Given the description of an element on the screen output the (x, y) to click on. 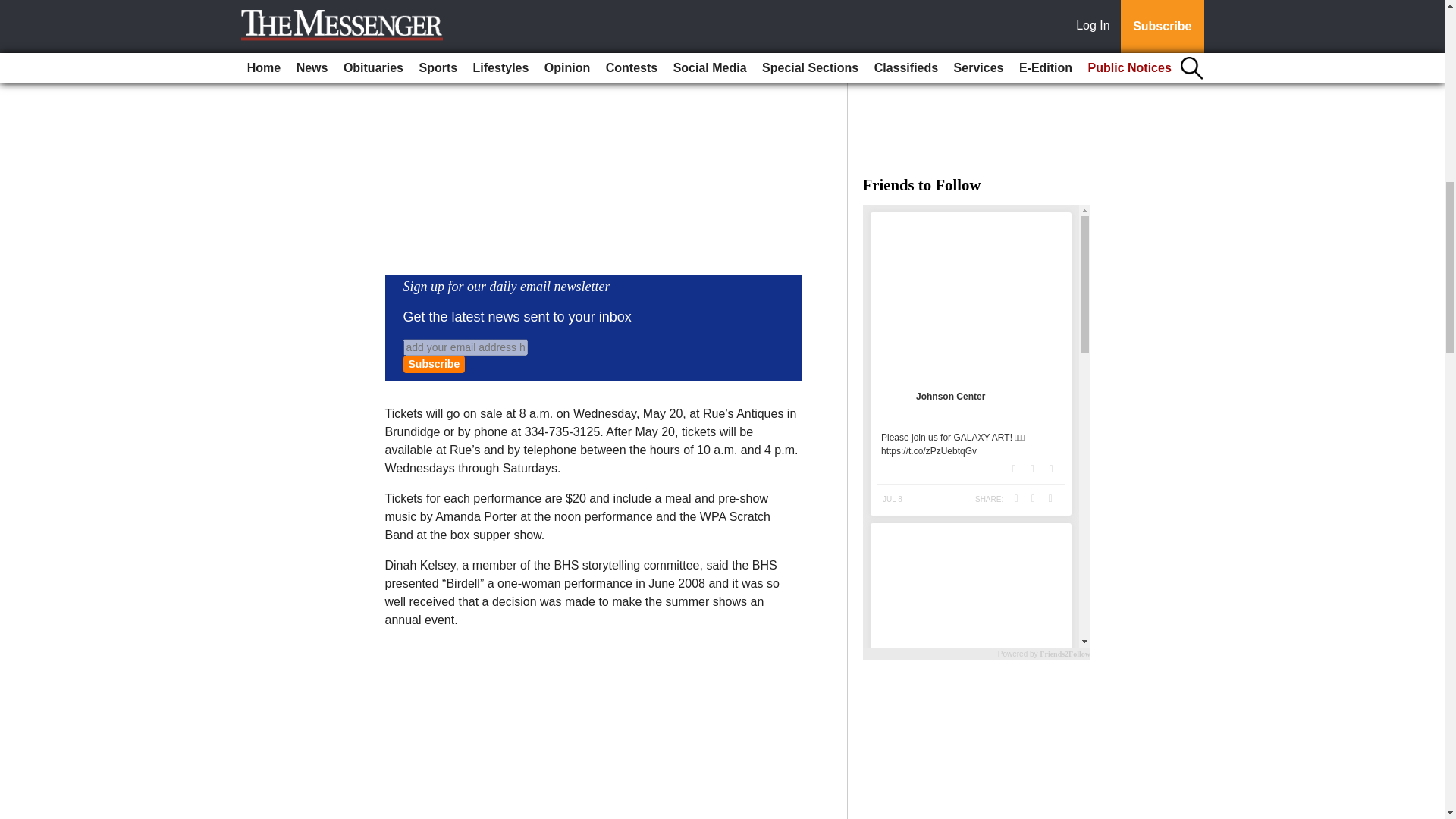
Subscribe (434, 364)
